Given the description of an element on the screen output the (x, y) to click on. 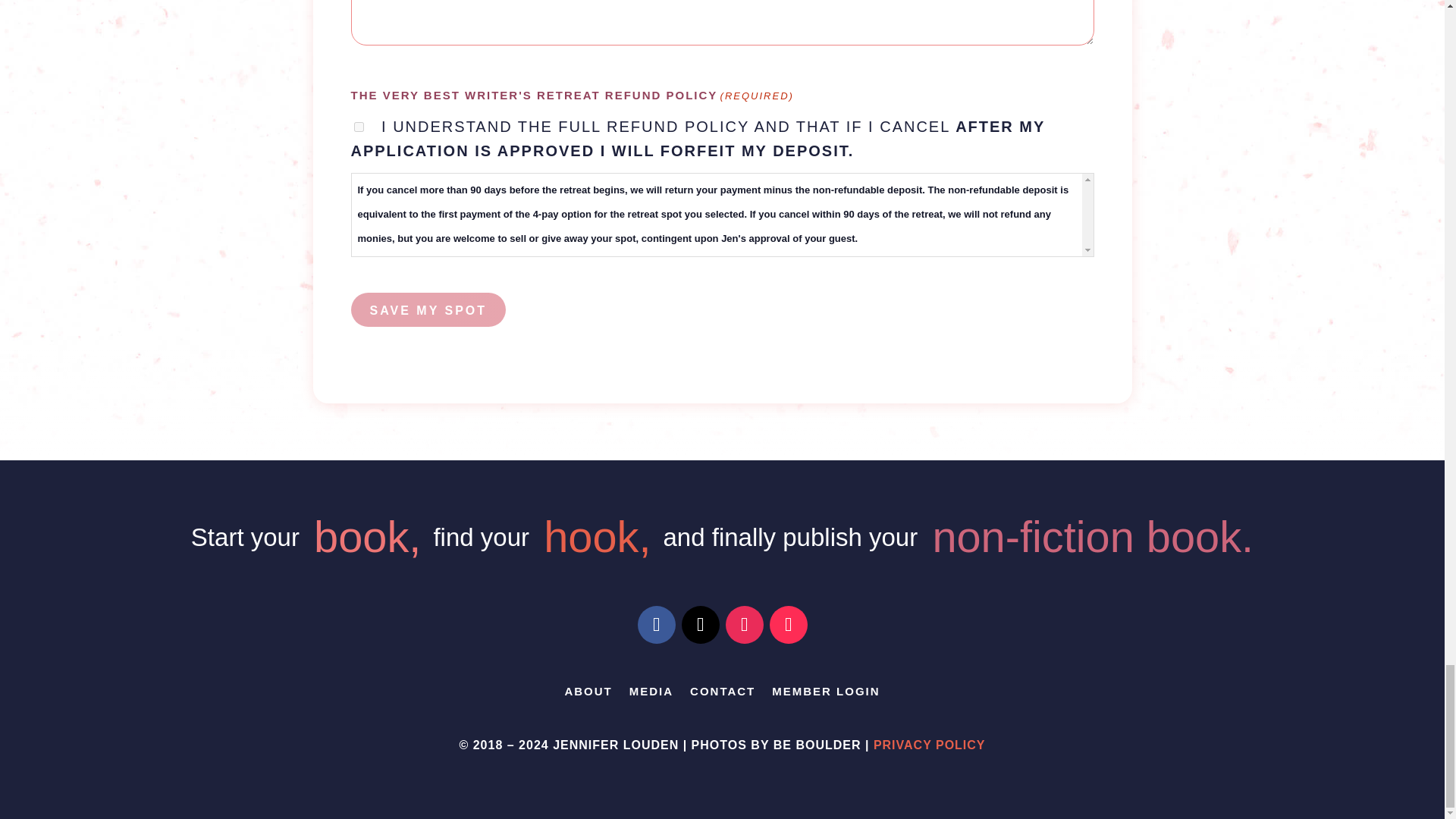
Follow on TikTok (787, 624)
1 (357, 126)
Follow on X (700, 624)
Follow on Instagram (743, 624)
Save my spot (427, 309)
Follow on Facebook (656, 624)
